Given the description of an element on the screen output the (x, y) to click on. 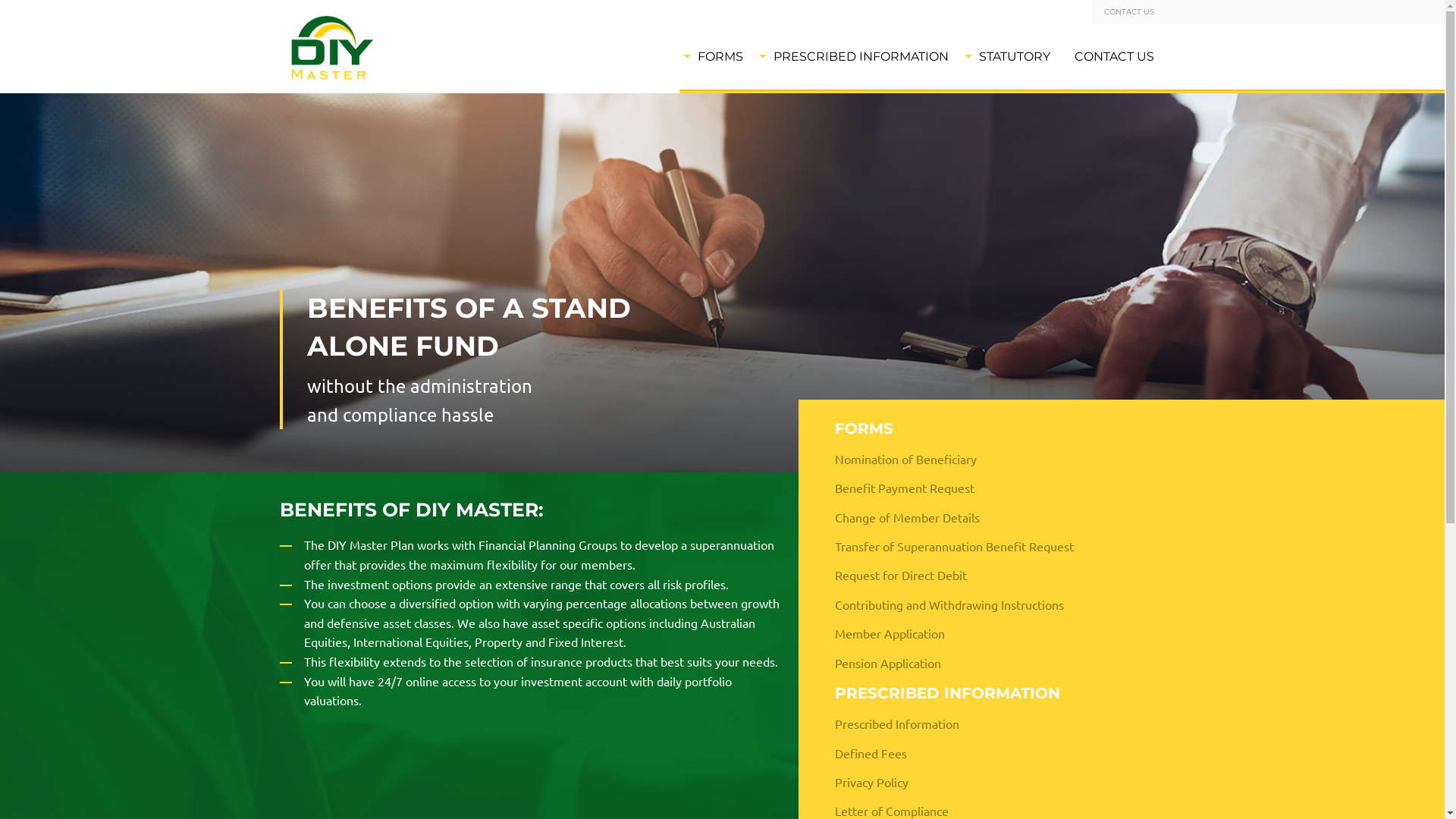
CONTACT US Element type: text (1129, 12)
FORMS Element type: text (987, 427)
Transfer of Superannuation Benefit Request Element type: text (987, 545)
Change of Member Details Element type: text (987, 516)
CONTACT US Element type: text (1113, 56)
Request for Direct Debit Element type: text (987, 574)
FORMS Element type: text (717, 56)
Prescribed Information Element type: text (987, 723)
STATUTORY Element type: text (1010, 56)
Member Application Element type: text (987, 632)
Defined Fees Element type: text (987, 752)
PRESCRIBED INFORMATION Element type: text (857, 56)
Pension Application Element type: text (987, 661)
Privacy Policy Element type: text (987, 781)
PRESCRIBED INFORMATION Element type: text (987, 693)
Nomination of Beneficiary Element type: text (987, 458)
Benefit Payment Request Element type: text (987, 487)
Contributing and Withdrawing Instructions Element type: text (987, 603)
